Given the description of an element on the screen output the (x, y) to click on. 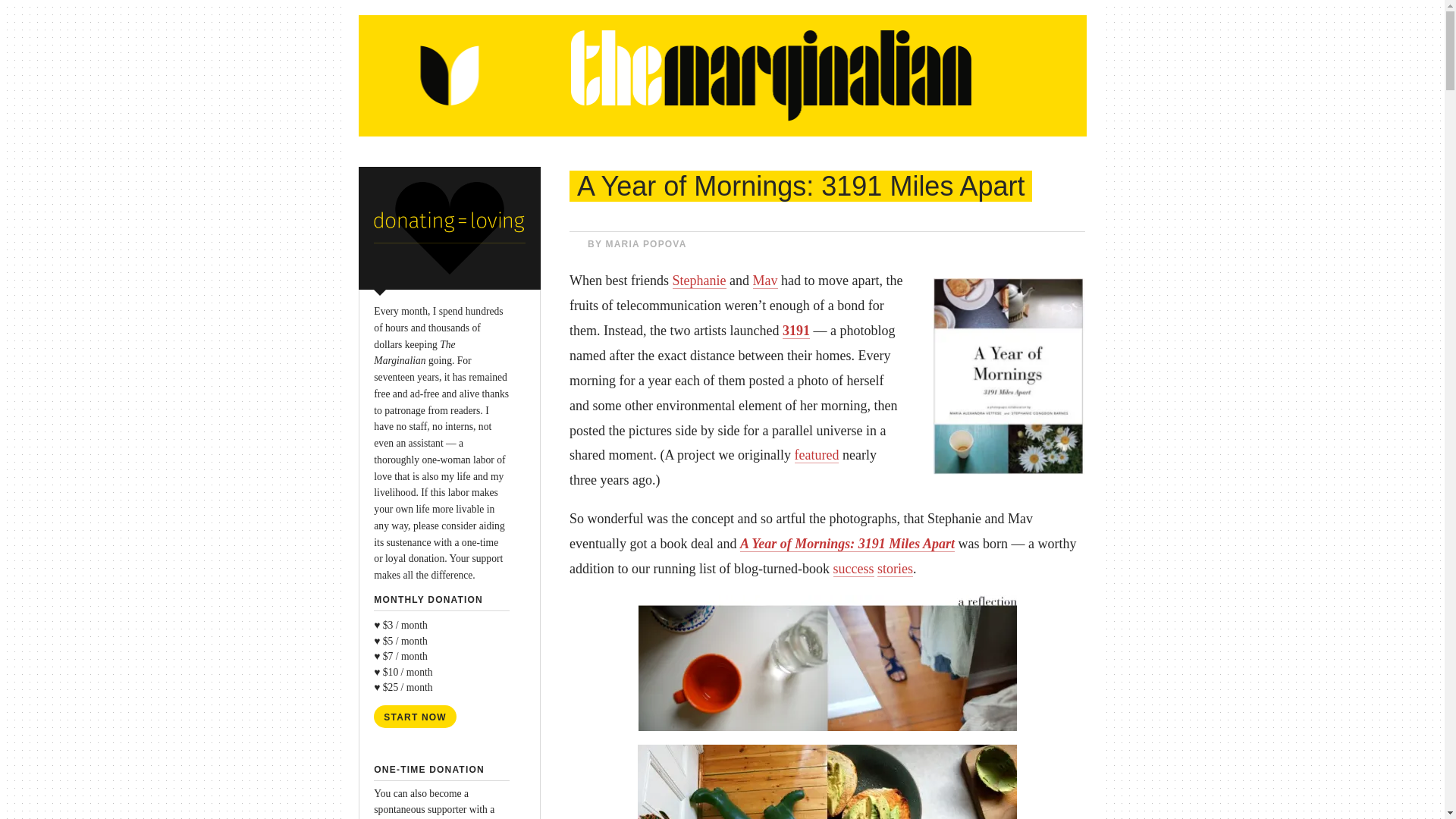
START NOW (415, 716)
